Given the description of an element on the screen output the (x, y) to click on. 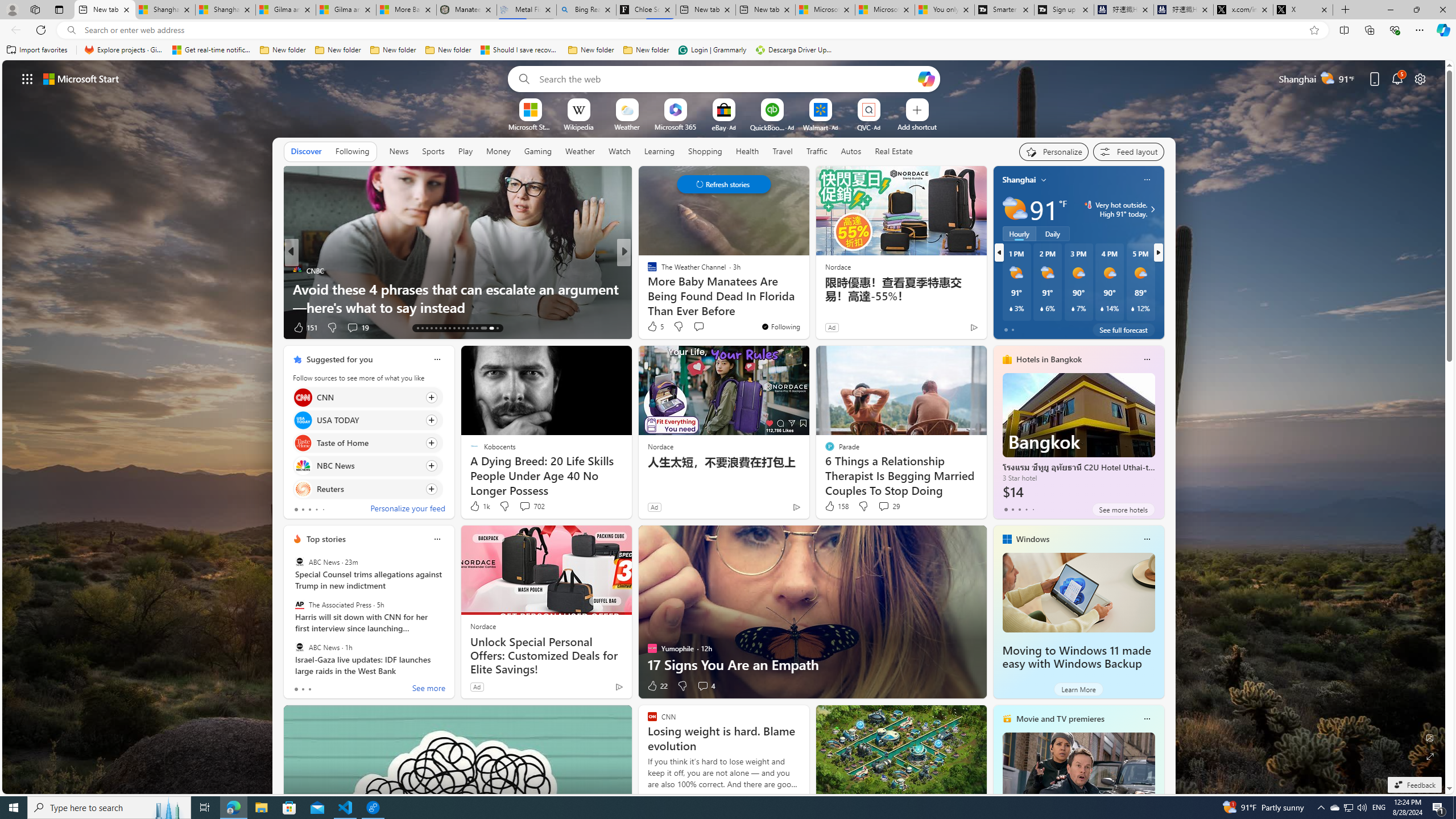
View comments 4 Comment (703, 685)
Top 10 Worst Things To Do When Camping (807, 307)
View comments 19 Comment (357, 327)
View comments 702 Comment (523, 505)
How to Survive (647, 288)
View comments 58 Comment (6, 327)
News (398, 151)
View comments 5 Comment (6, 327)
USA TODAY (302, 419)
AutomationID: tab-41 (489, 328)
Health (746, 151)
Sports (432, 151)
